Given the description of an element on the screen output the (x, y) to click on. 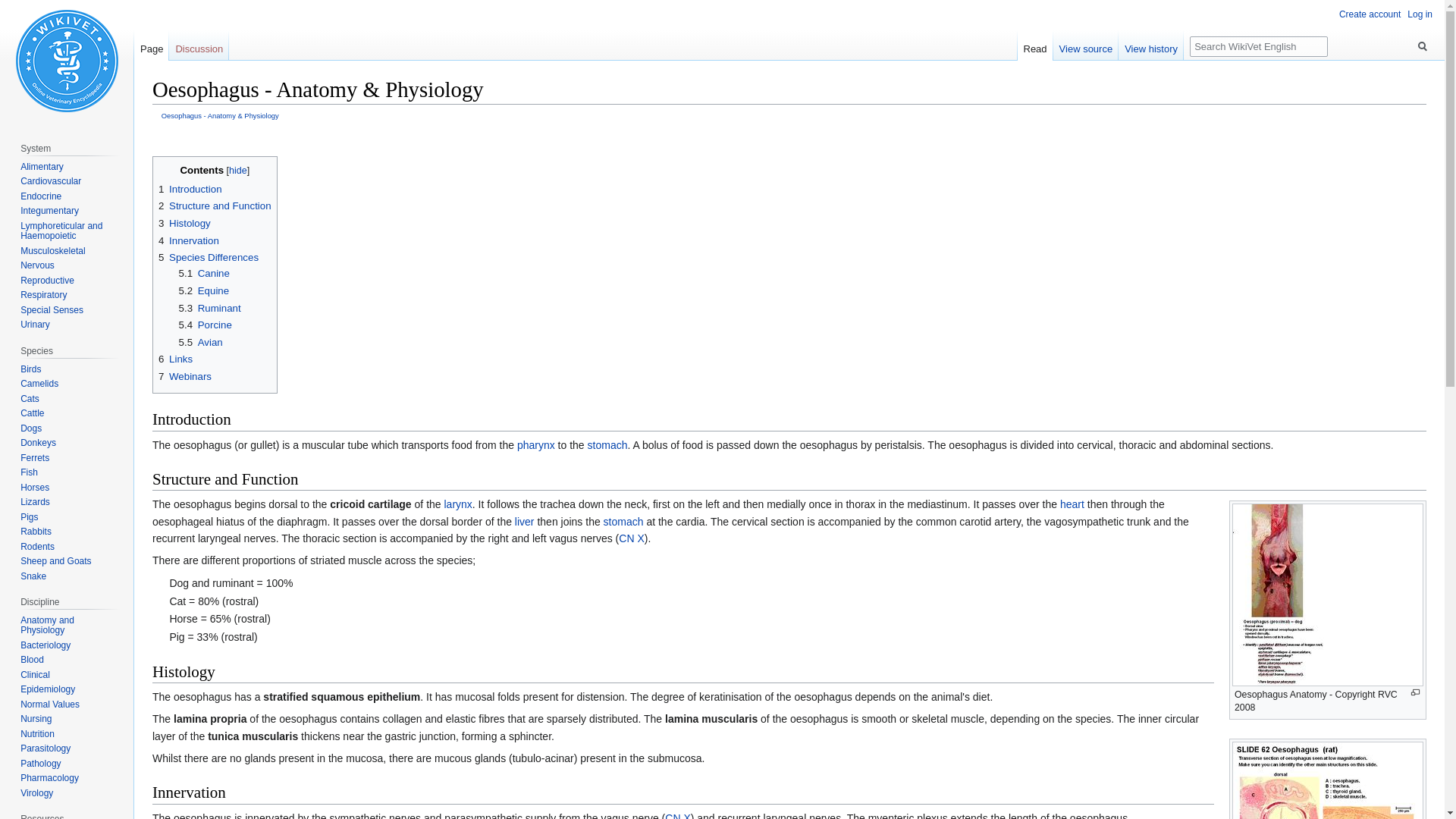
Enlarge (1415, 692)
liver (524, 521)
stomach (607, 444)
Search (1422, 46)
pharynx (535, 444)
3 Histology (184, 223)
Search (1422, 46)
CN X (630, 538)
stomach (623, 521)
5.5 Avian (200, 342)
5.4 Porcine (205, 324)
6 Links (175, 358)
5.3 Ruminant (210, 307)
larynx (457, 503)
heart (1071, 503)
